Given the description of an element on the screen output the (x, y) to click on. 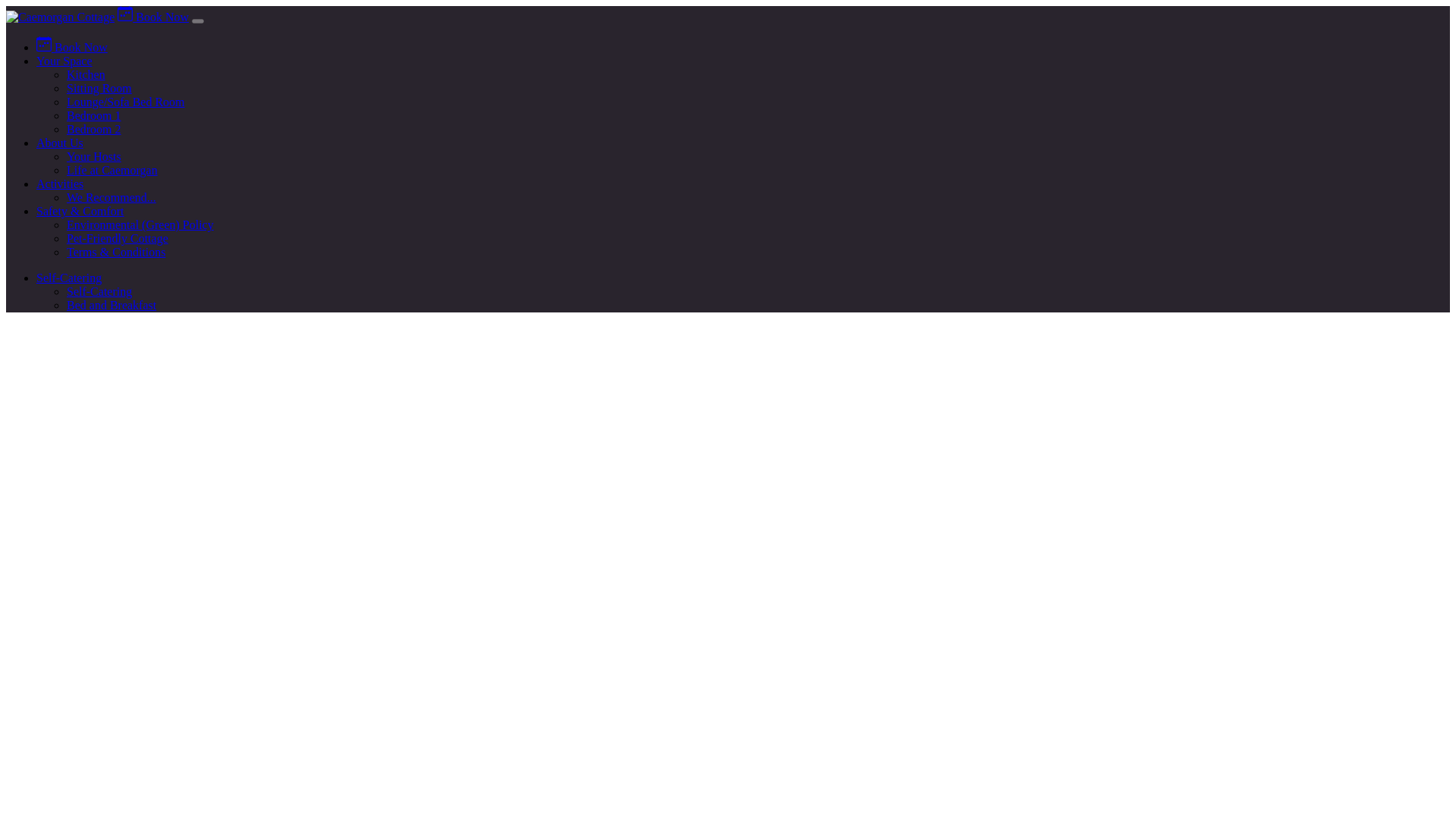
Sitting Room (99, 88)
Self-Catering (68, 277)
Book Now (71, 47)
Self-Catering (99, 291)
Bedroom 1 (93, 115)
Your Hosts (93, 155)
We Recommend... (110, 196)
Your Space (63, 60)
Bedroom 2 (93, 128)
Kitchen (85, 74)
Pet-Friendly Cottage (117, 237)
Life at Caemorgan (111, 169)
Activities (59, 183)
Book Now (153, 16)
About Us (59, 142)
